Given the description of an element on the screen output the (x, y) to click on. 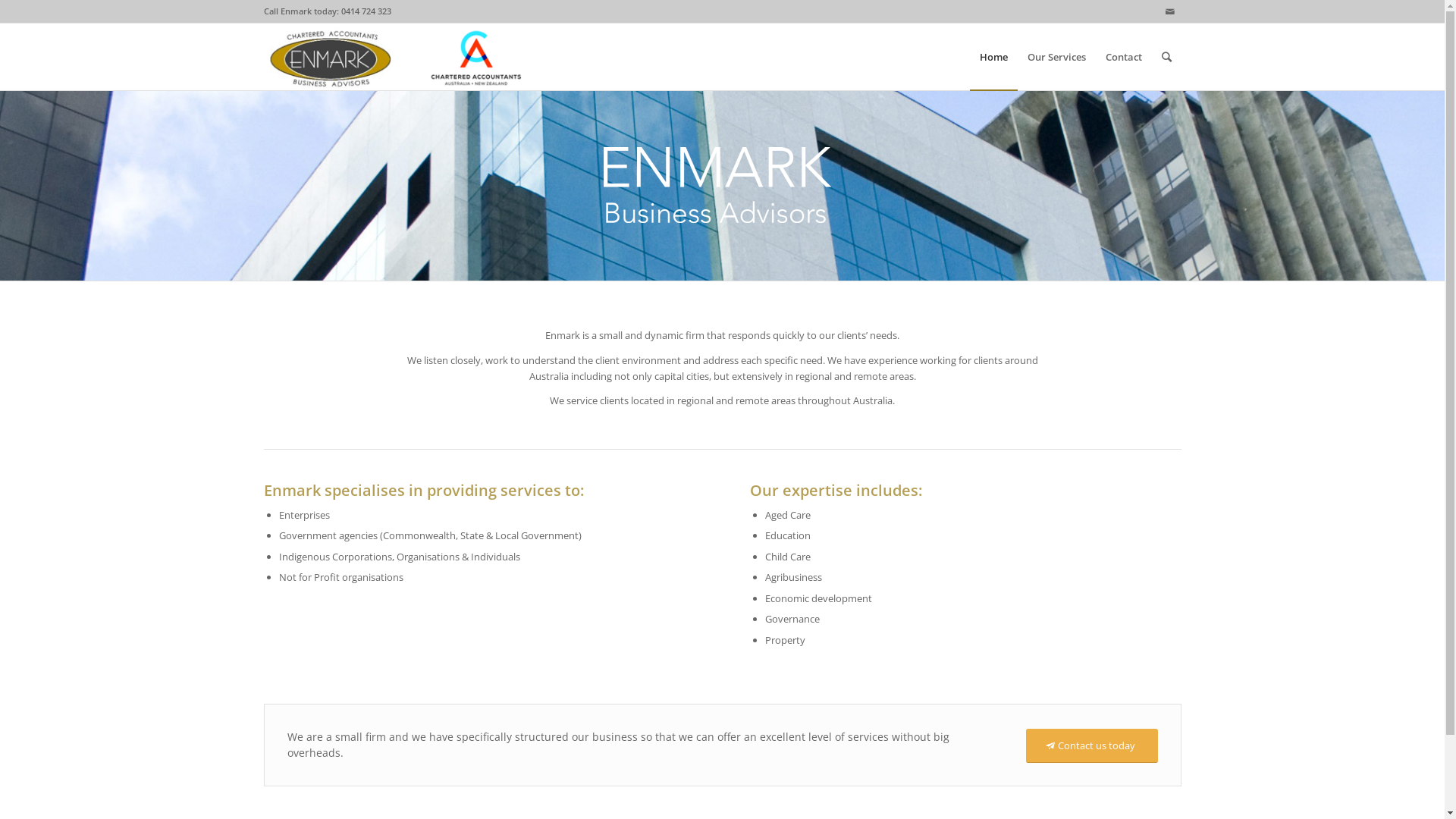
Contact us today Element type: text (1091, 745)
Home Element type: text (992, 56)
Our Services Element type: text (1056, 56)
Mail Element type: hover (1169, 11)
Contact Element type: text (1123, 56)
